Given the description of an element on the screen output the (x, y) to click on. 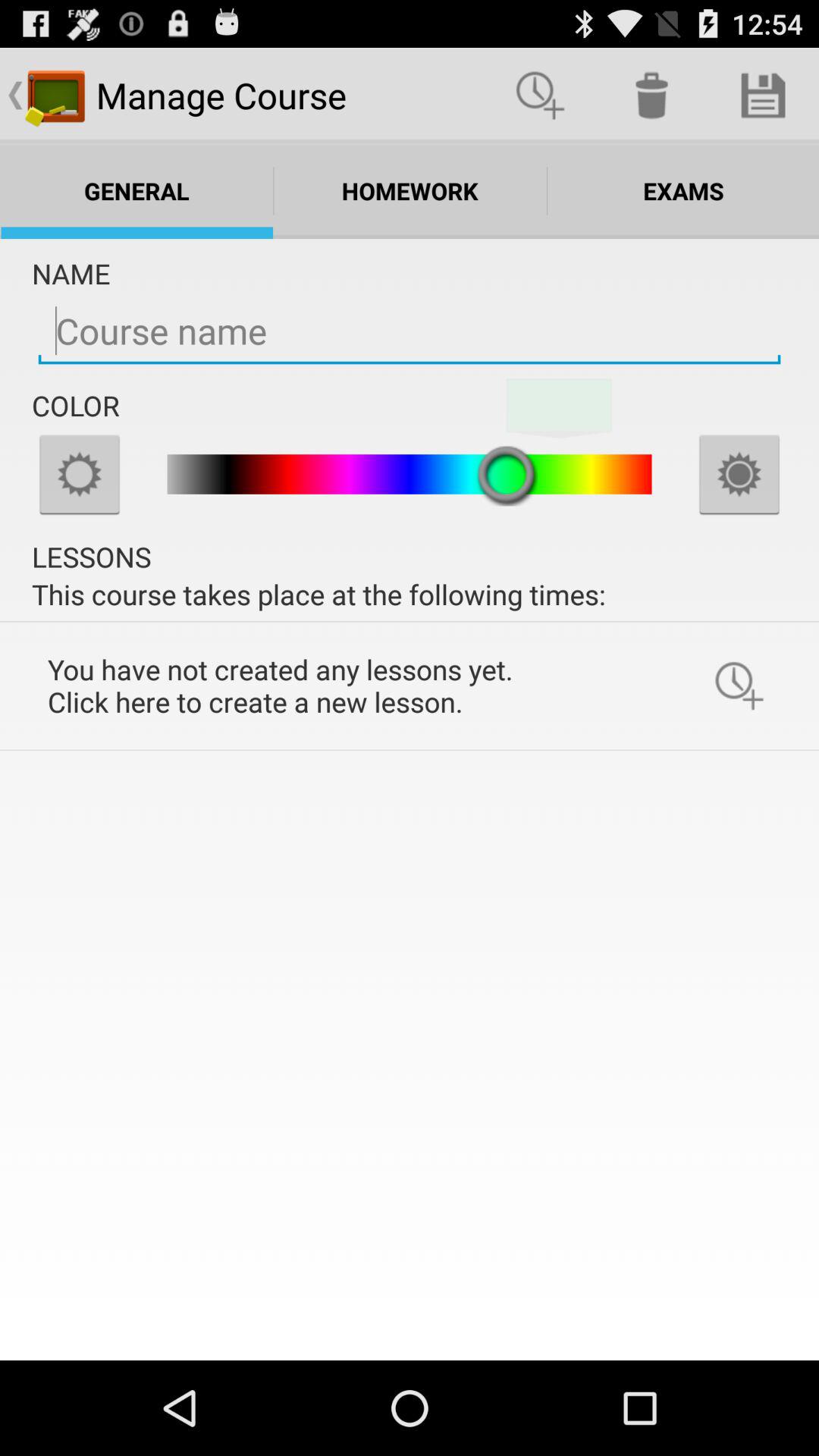
settings (79, 474)
